Given the description of an element on the screen output the (x, y) to click on. 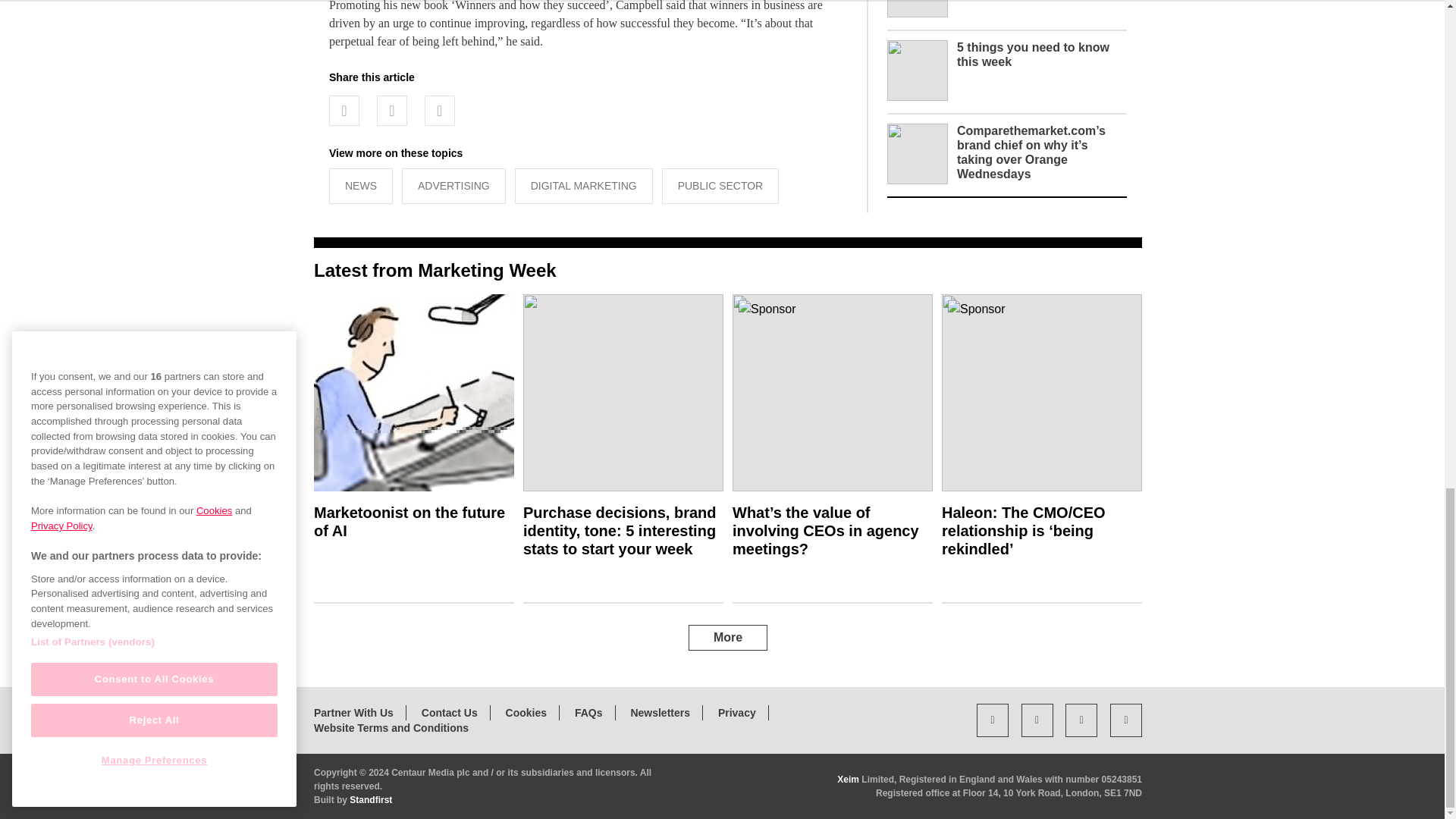
Latest from Marketing Week (435, 270)
PUBLIC SECTOR (720, 185)
ADVERTISING (453, 185)
NEWS (361, 185)
DIGITAL MARKETING (583, 185)
Privacy (736, 712)
